Given the description of an element on the screen output the (x, y) to click on. 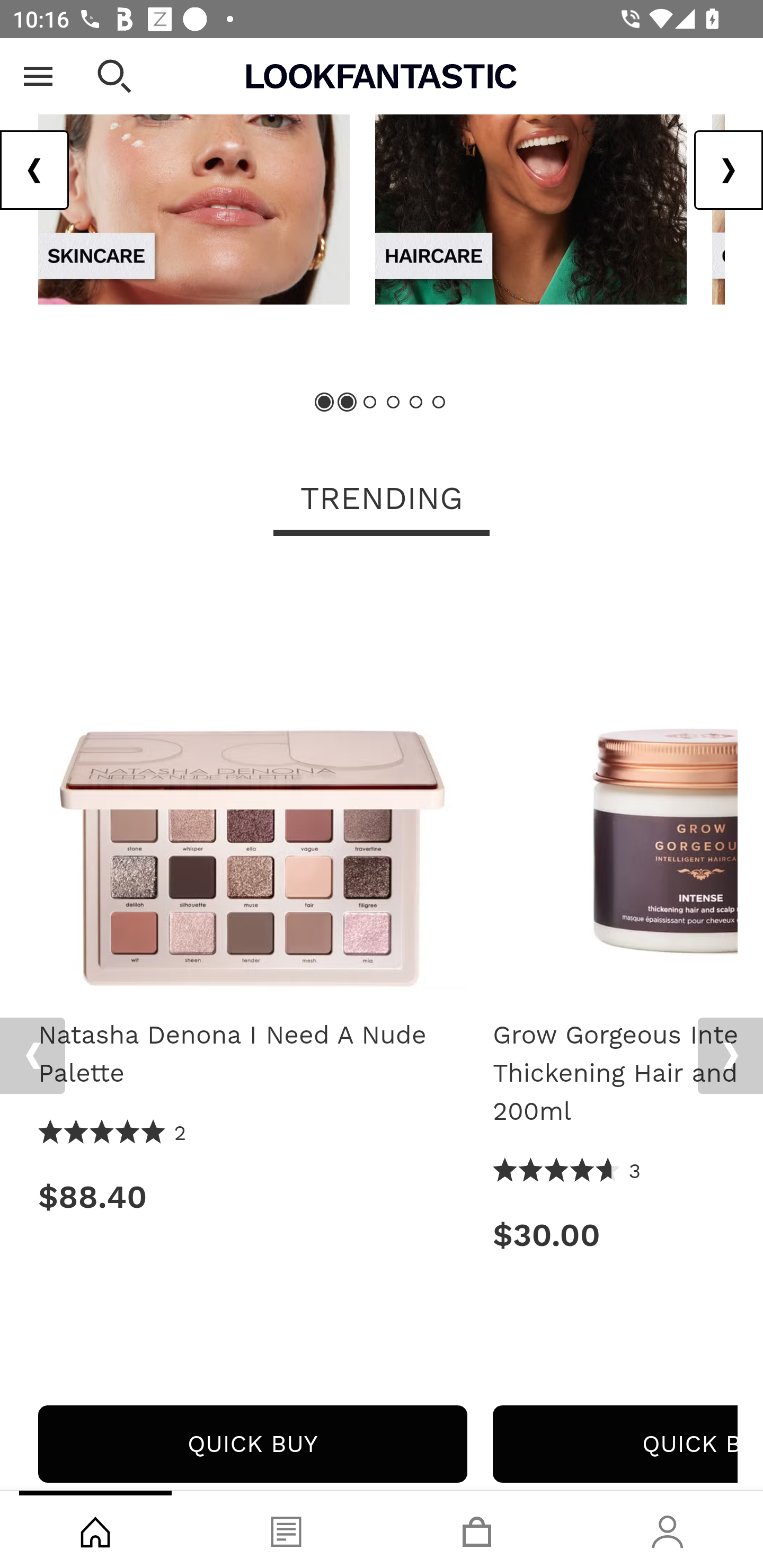
Previous (35, 170)
Next (727, 170)
Showing Slide 1 (Current Item) (324, 402)
Showing Slide 2 (Current Item) (347, 402)
Slide 3 (369, 402)
Slide 4 (393, 402)
Slide 5 (415, 402)
Slide 6 (437, 402)
TRENDING (381, 500)
Natasha Denona I Need A Nude Palette (252, 783)
Natasha Denona I Need A Nude Palette (252, 1054)
Previous (32, 1055)
Next (730, 1055)
5.0 Stars 2 Reviews (112, 1133)
4.67 Stars 3 Reviews (567, 1171)
Price: $88.40 (252, 1196)
Price: $30.00 (614, 1235)
QUICK BUY NATASHA DENONA I NEED A NUDE PALETTE (252, 1444)
Shop, tab, 1 of 4 (95, 1529)
Blog, tab, 2 of 4 (285, 1529)
Basket, tab, 3 of 4 (476, 1529)
Account, tab, 4 of 4 (667, 1529)
